Given the description of an element on the screen output the (x, y) to click on. 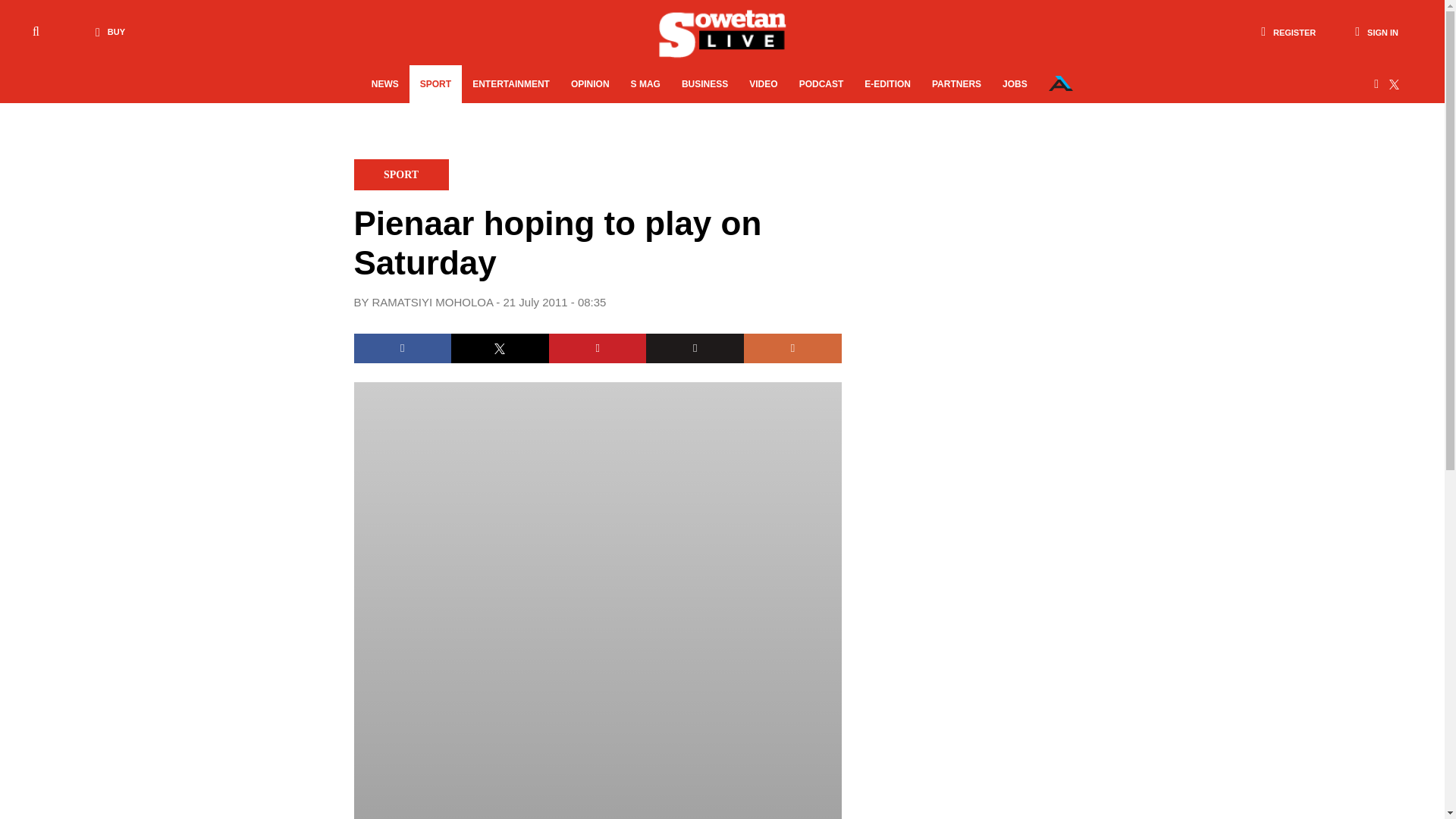
NEWS (385, 84)
VIDEO (762, 84)
BUSINESS (704, 84)
SIGN IN (1376, 32)
REGISTER (1288, 32)
PODCAST (821, 84)
OPINION (590, 84)
SPORT (435, 84)
JOBS (1014, 84)
PARTNERS (956, 84)
